Given the description of an element on the screen output the (x, y) to click on. 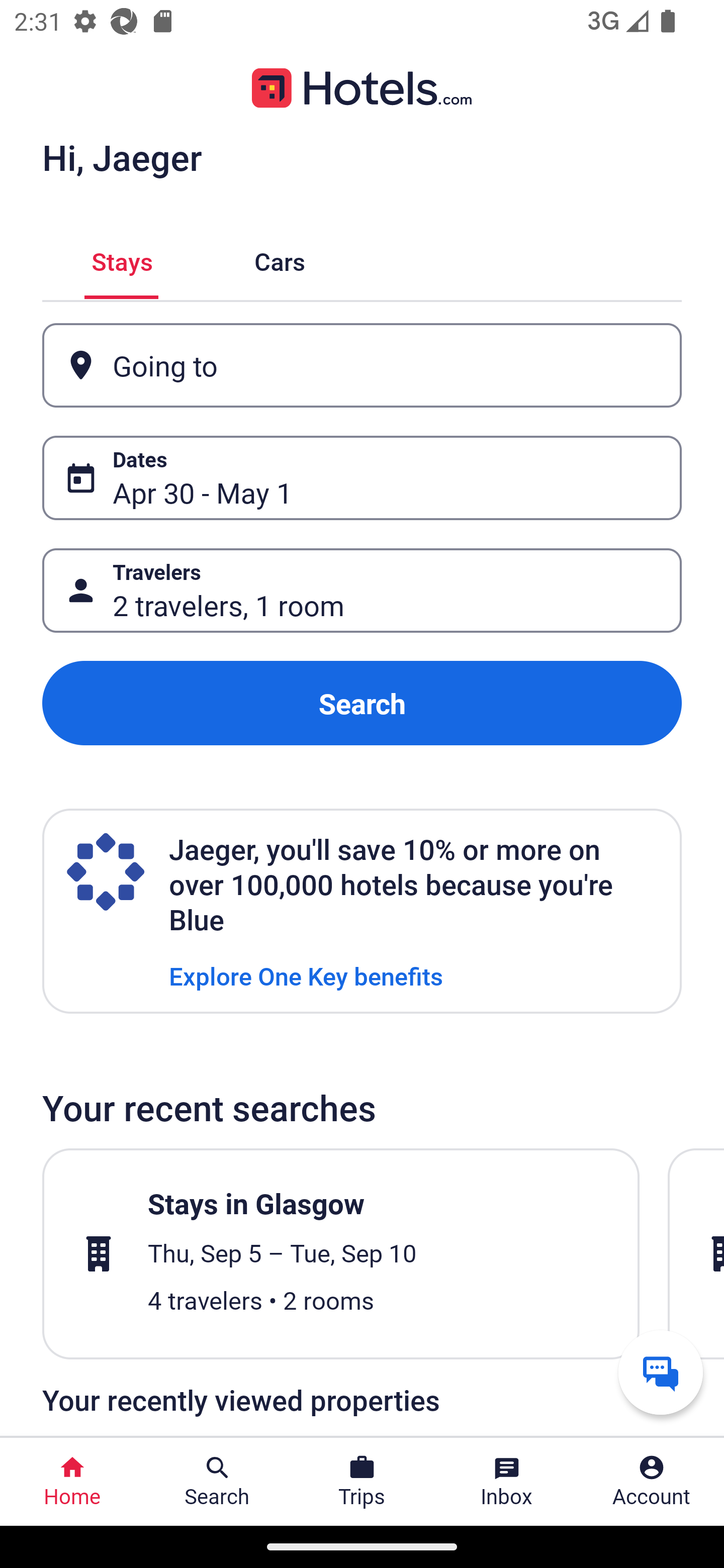
Hi, Jaeger (121, 156)
Cars (279, 259)
Going to Button (361, 365)
Dates Button Apr 30 - May 1 (361, 477)
Travelers Button 2 travelers, 1 room (361, 590)
Search (361, 702)
Get help from a virtual agent (660, 1371)
Search Search Button (216, 1481)
Trips Trips Button (361, 1481)
Inbox Inbox Button (506, 1481)
Account Profile. Button (651, 1481)
